Given the description of an element on the screen output the (x, y) to click on. 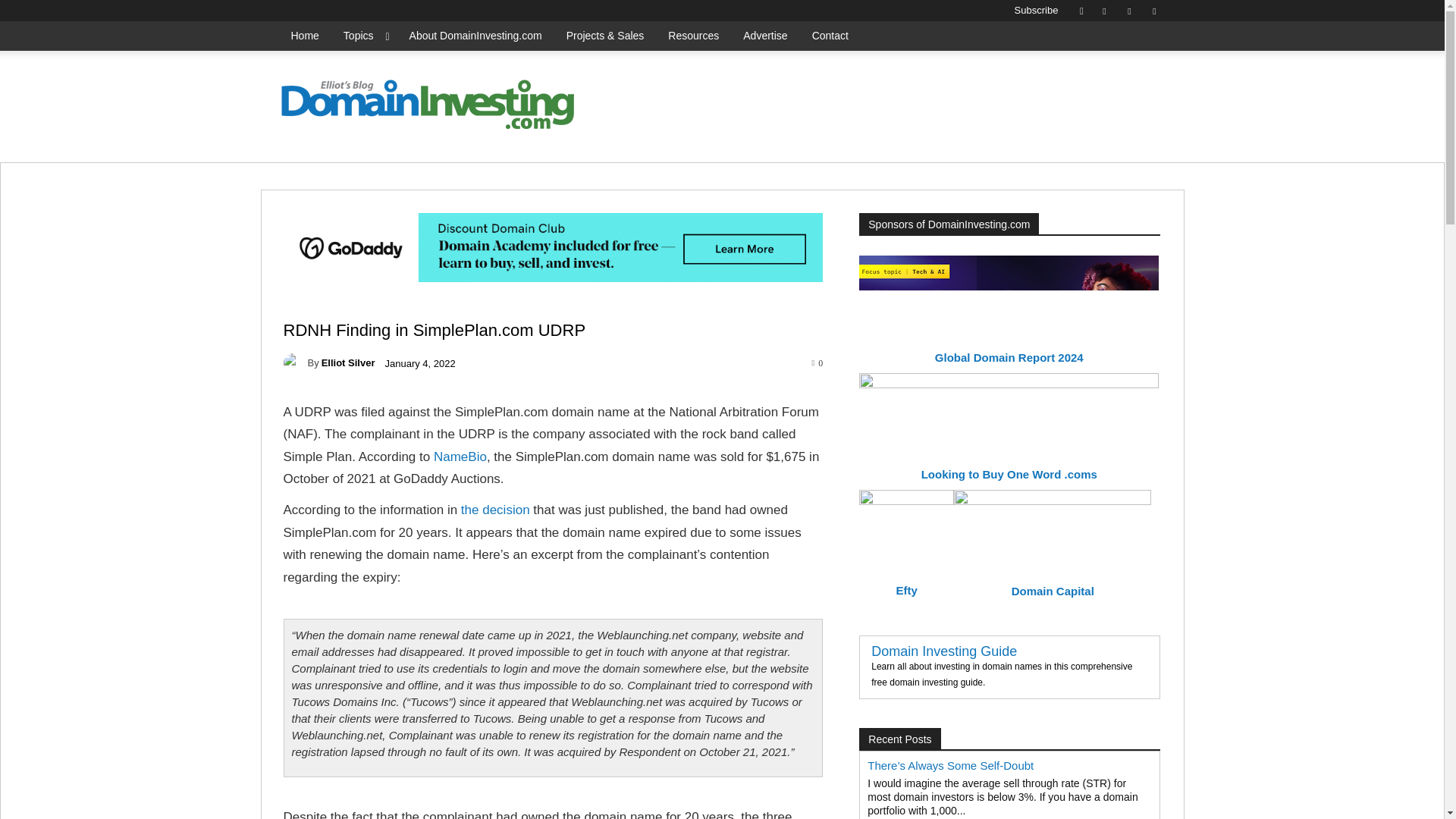
Twitter (1154, 10)
Facebook (1104, 10)
RSS (1129, 10)
Elliot Silver (295, 362)
gd-ending-soon (887, 110)
